Given the description of an element on the screen output the (x, y) to click on. 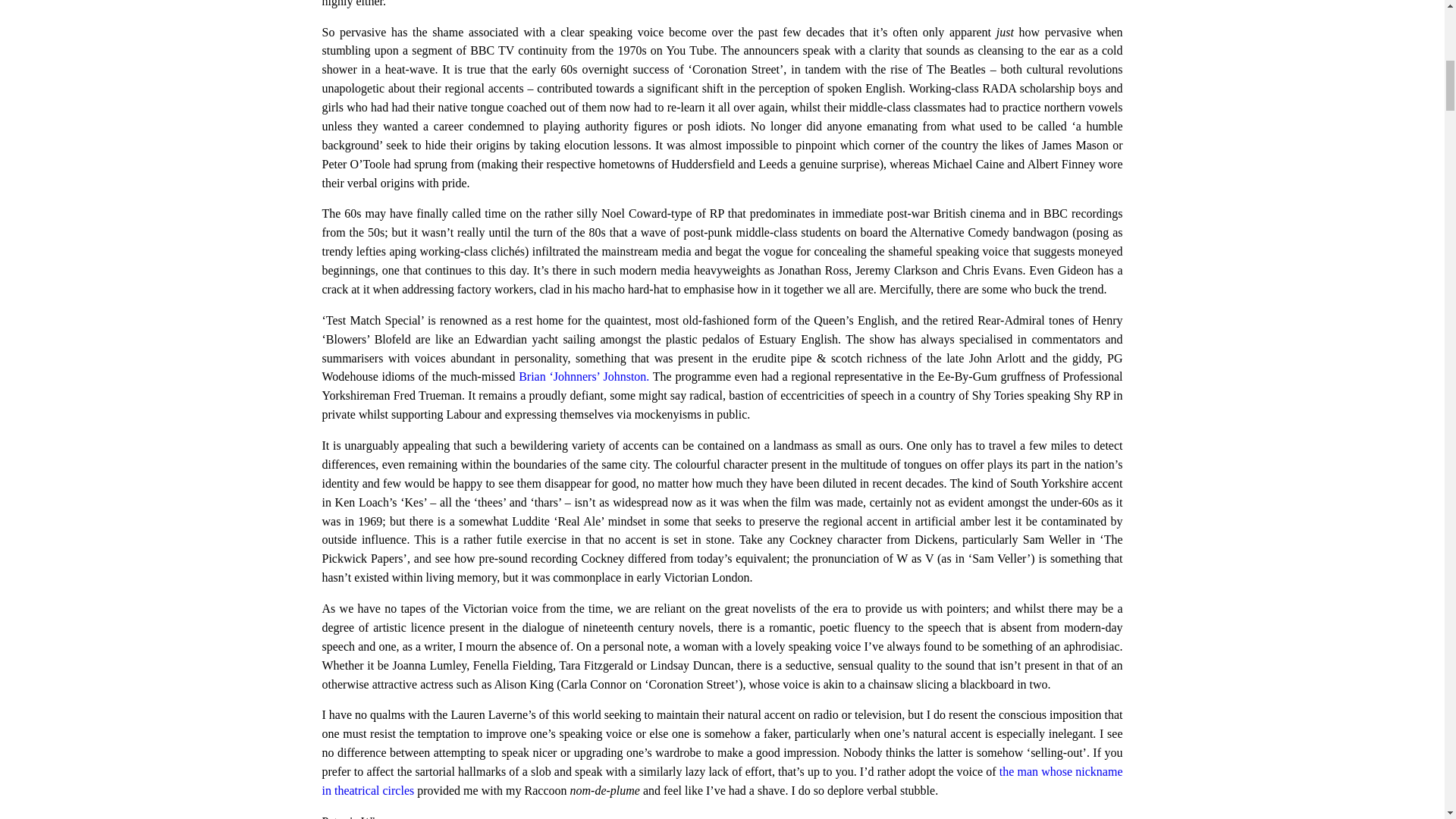
the man whose nickname in theatrical circles (721, 780)
